Given the description of an element on the screen output the (x, y) to click on. 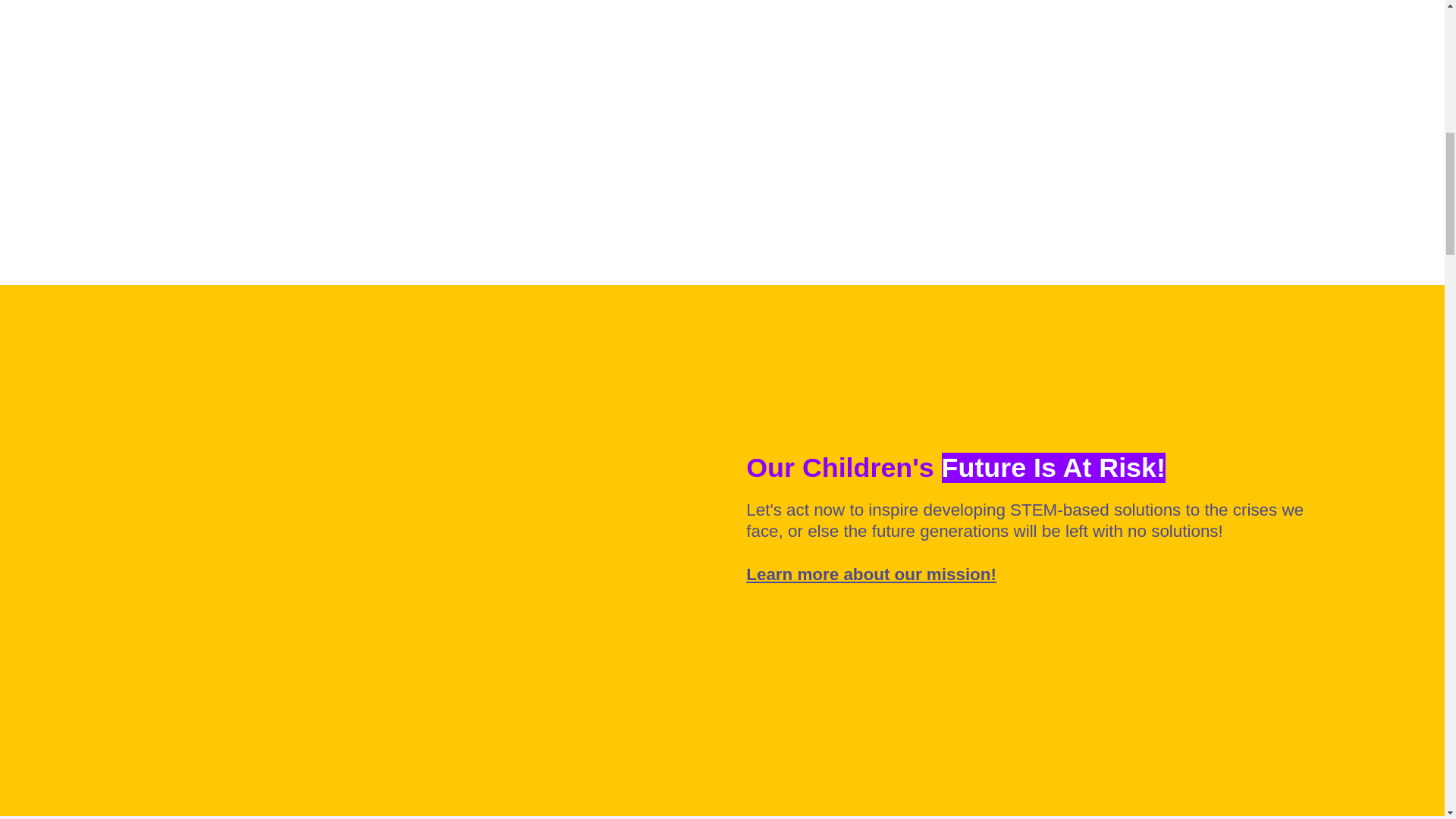
Learn more about our mission! (870, 574)
